Given the description of an element on the screen output the (x, y) to click on. 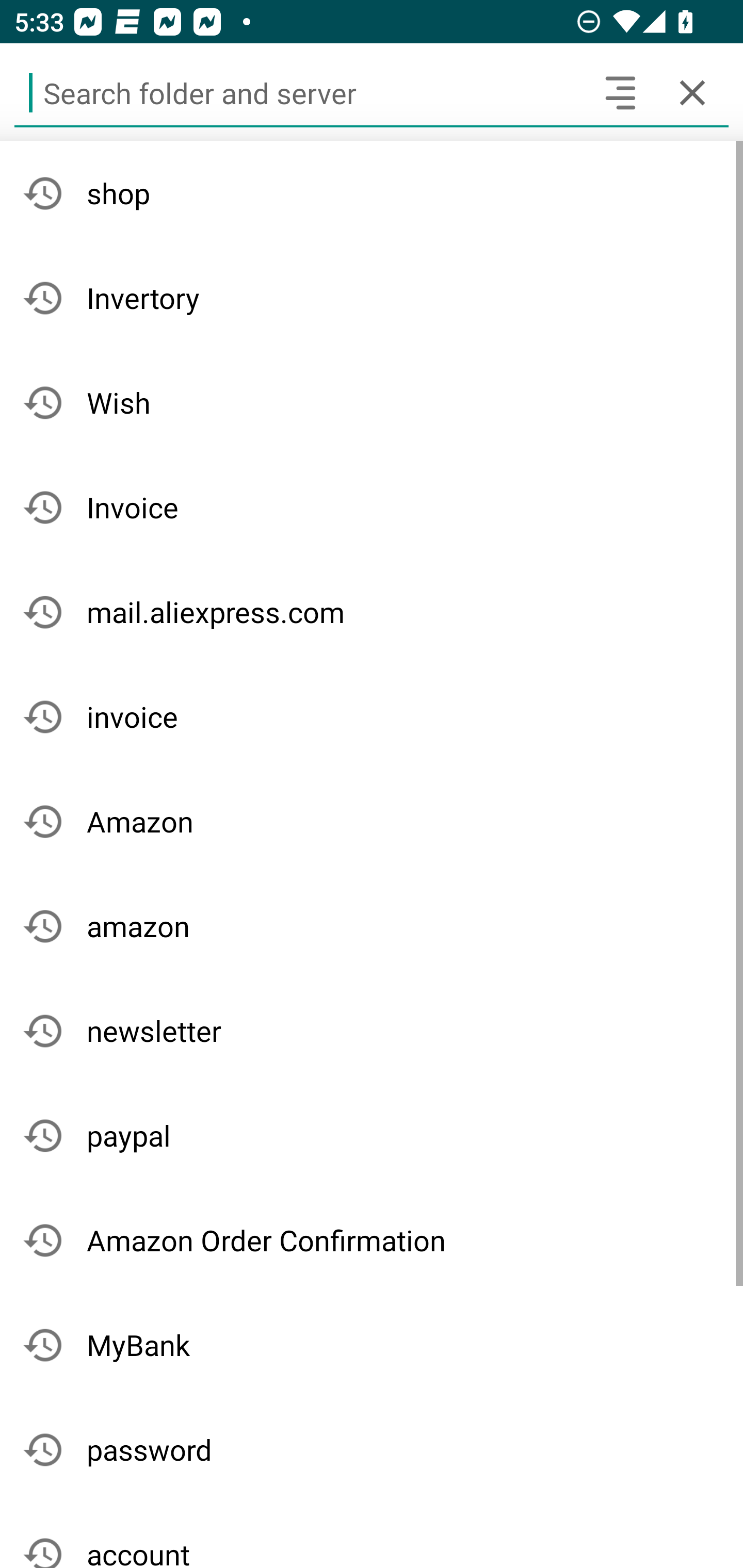
   Search folder and server (298, 92)
Search headers and text (619, 92)
Cancel (692, 92)
